Given the description of an element on the screen output the (x, y) to click on. 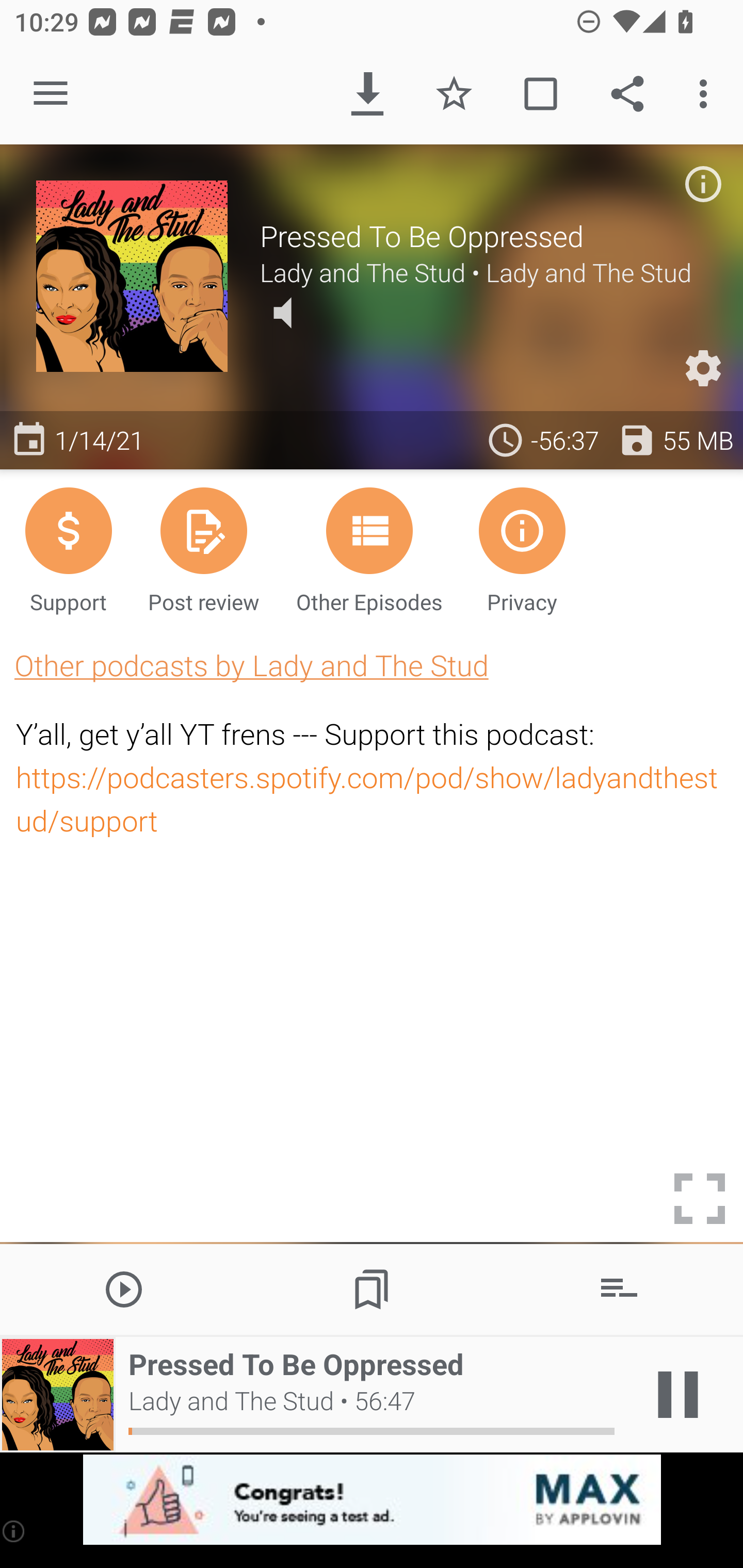
Open navigation sidebar (50, 93)
Download (366, 93)
Favorite (453, 93)
Mark played / unplayed (540, 93)
Share (626, 93)
More options (706, 93)
Podcast description (703, 184)
Pressed To Be Oppressed (483, 235)
Custom Settings (703, 368)
Support (68, 549)
Post review (203, 549)
Other Episodes (368, 549)
Privacy (521, 549)
Other podcasts by Lady and The Stud (251, 665)
Toggle full screen mode (699, 1198)
Play (123, 1288)
Chapters / Bookmarks (371, 1288)
Remove from Playlist (619, 1288)
Play / Pause (677, 1394)
app-monetization (371, 1500)
(i) (14, 1531)
